Given the description of an element on the screen output the (x, y) to click on. 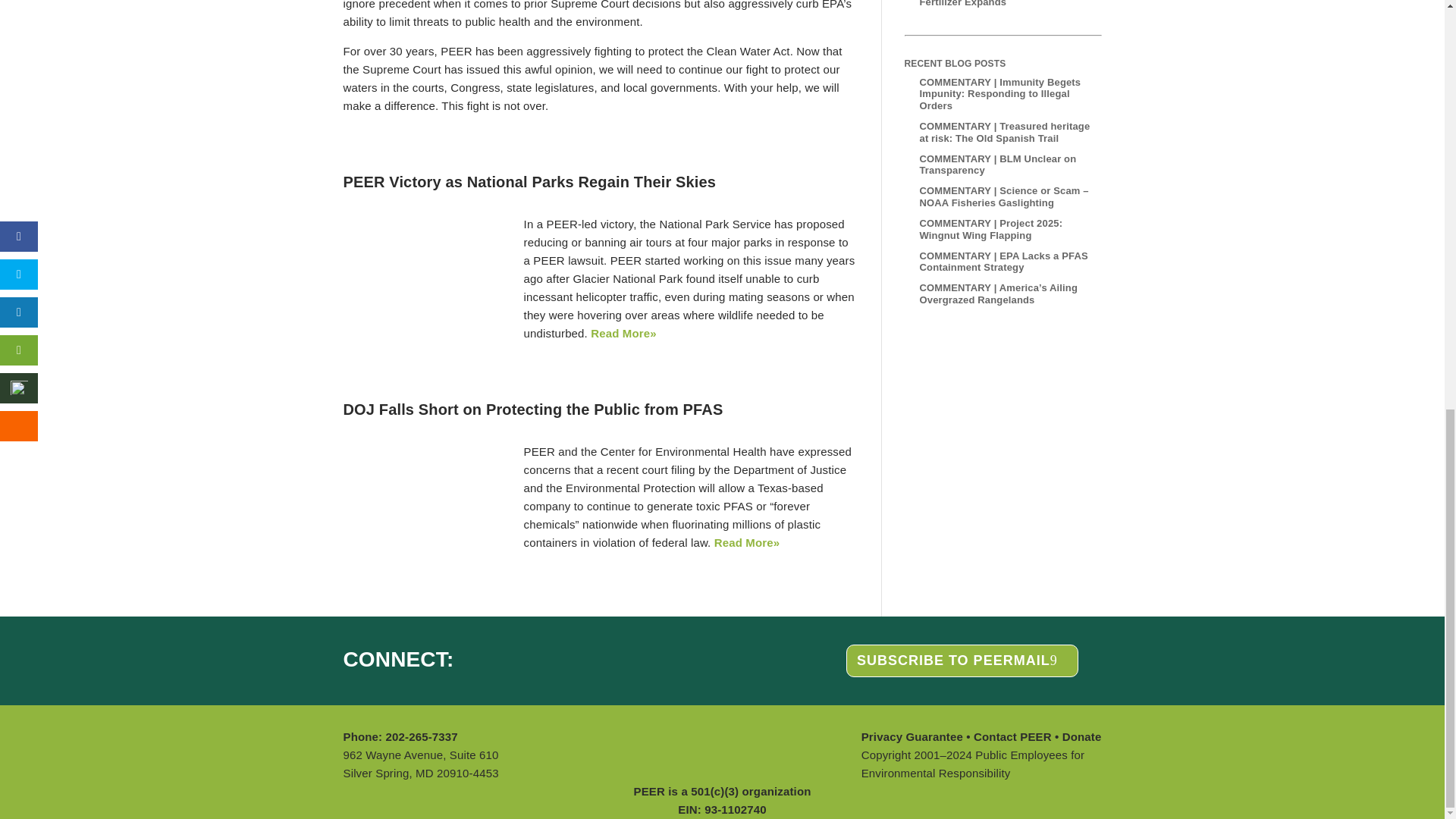
05-24-2023-Commentary-park overflights-1 (418, 258)
rssfeed (614, 658)
yt-icon-white (571, 658)
x-logo-20 (541, 658)
Instagram (484, 657)
linkedin-white (513, 657)
